Given the description of an element on the screen output the (x, y) to click on. 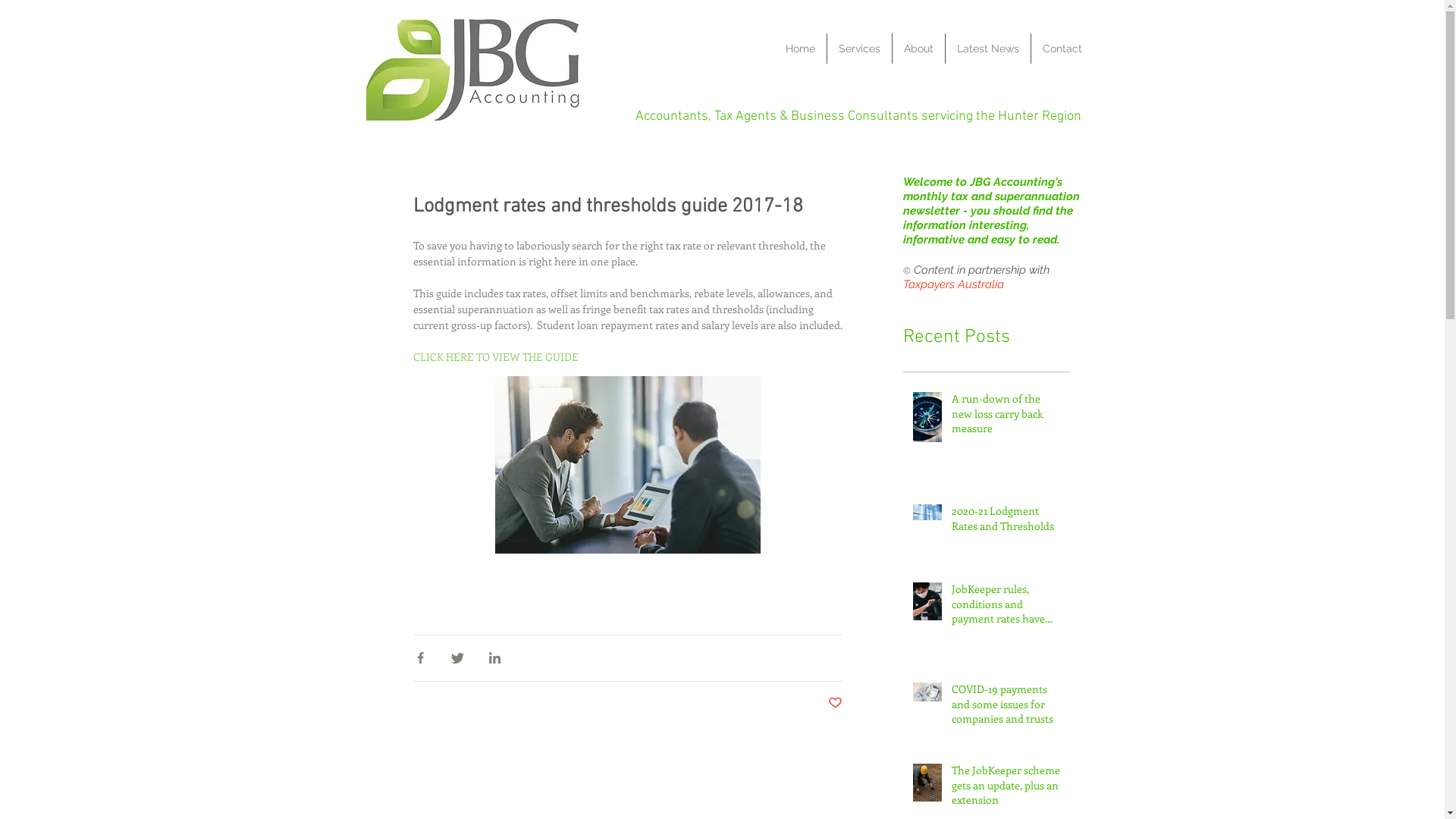
The JobKeeper scheme gets an update, plus an extension Element type: text (1005, 787)
Services Element type: text (858, 48)
COVID-19 payments and some issues for companies and trusts Element type: text (1005, 706)
CLICK HERE TO VIEW THE GUIDE Element type: text (494, 356)
2020-21 Lodgment Rates and Thresholds Element type: text (1005, 521)
JobKeeper rules, conditions and payment rates have changed Element type: text (1005, 606)
Post not marked as liked Element type: text (835, 703)
Contact Element type: text (1062, 48)
Home Element type: text (799, 48)
Latest News Element type: text (986, 48)
About Element type: text (917, 48)
A run-down of the new loss carry back measure Element type: text (1005, 416)
  Element type: text (413, 572)
